Given the description of an element on the screen output the (x, y) to click on. 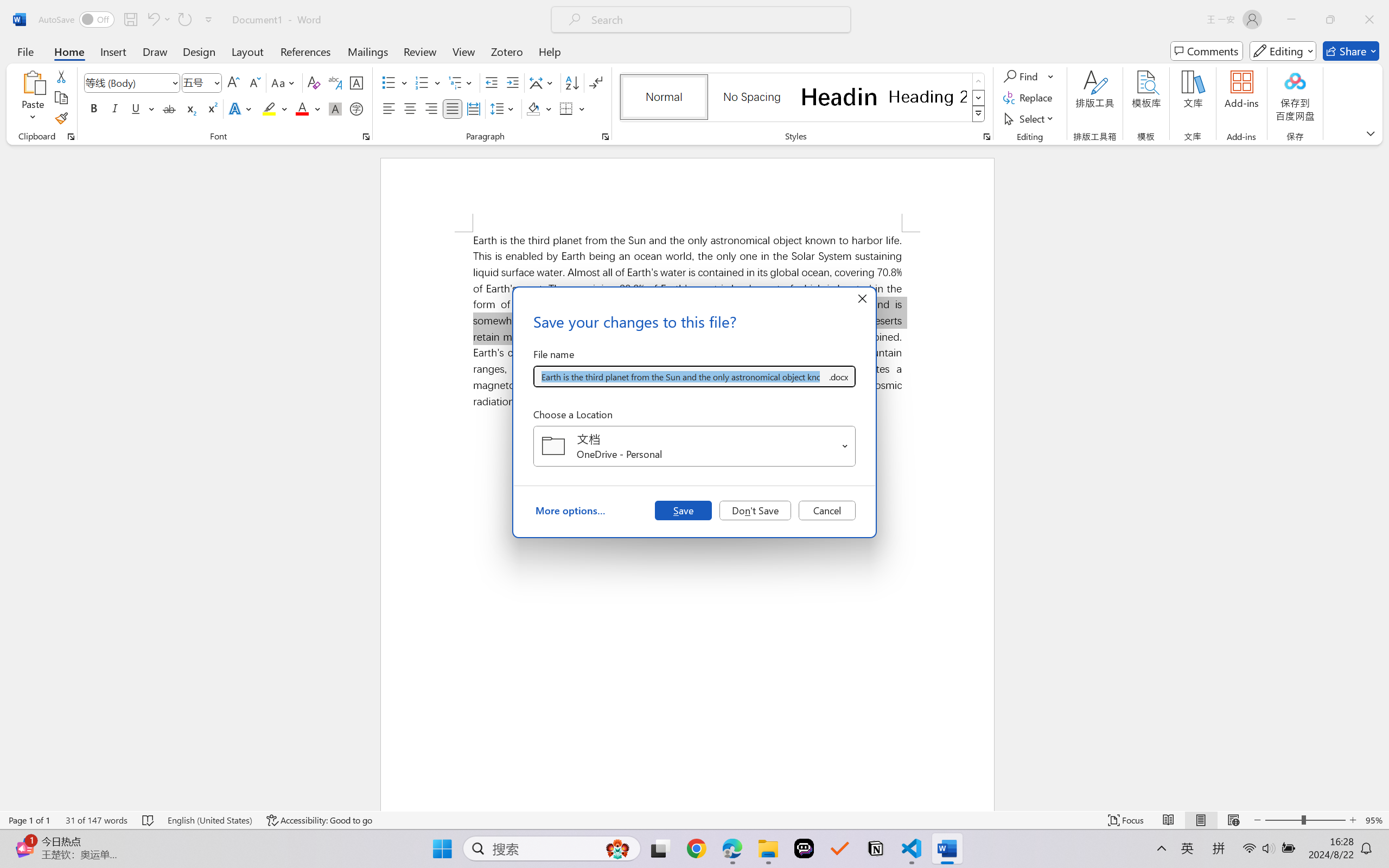
Sort... (571, 82)
Office Clipboard... (70, 136)
Character Border (356, 82)
Text Highlight Color (274, 108)
Help (549, 51)
Save as type (837, 376)
Notion (875, 848)
Select (1030, 118)
Row Down (978, 97)
